Given the description of an element on the screen output the (x, y) to click on. 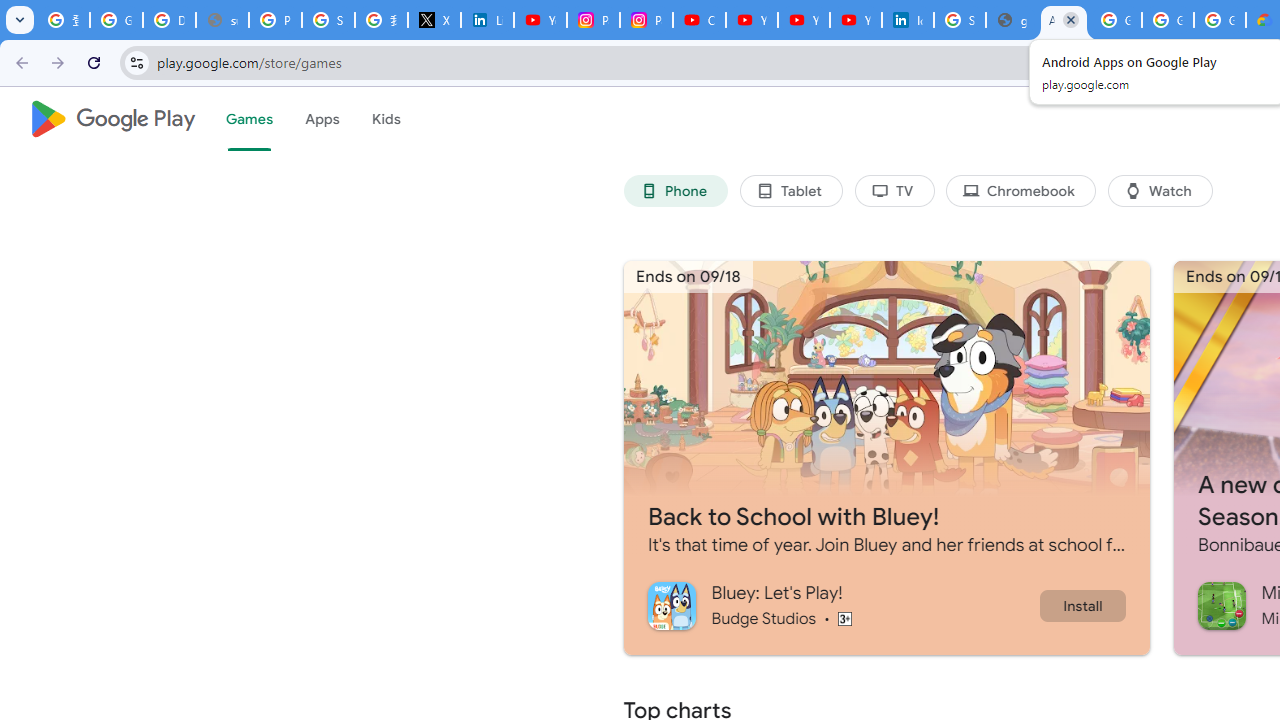
Google Play logo (111, 119)
Google Workspace - Specific Terms (1219, 20)
google_privacy_policy_en.pdf (1011, 20)
Phone (675, 190)
Sign in - Google Accounts (959, 20)
YouTube Culture & Trends - YouTube Top 10, 2021 (855, 20)
LinkedIn Privacy Policy (487, 20)
Tablet (790, 190)
Watch (1160, 190)
Bluey: Let's Play! Budge Studios Content rating Rated for 3+ (842, 605)
Content rating Rated for 3+ (844, 618)
